Given the description of an element on the screen output the (x, y) to click on. 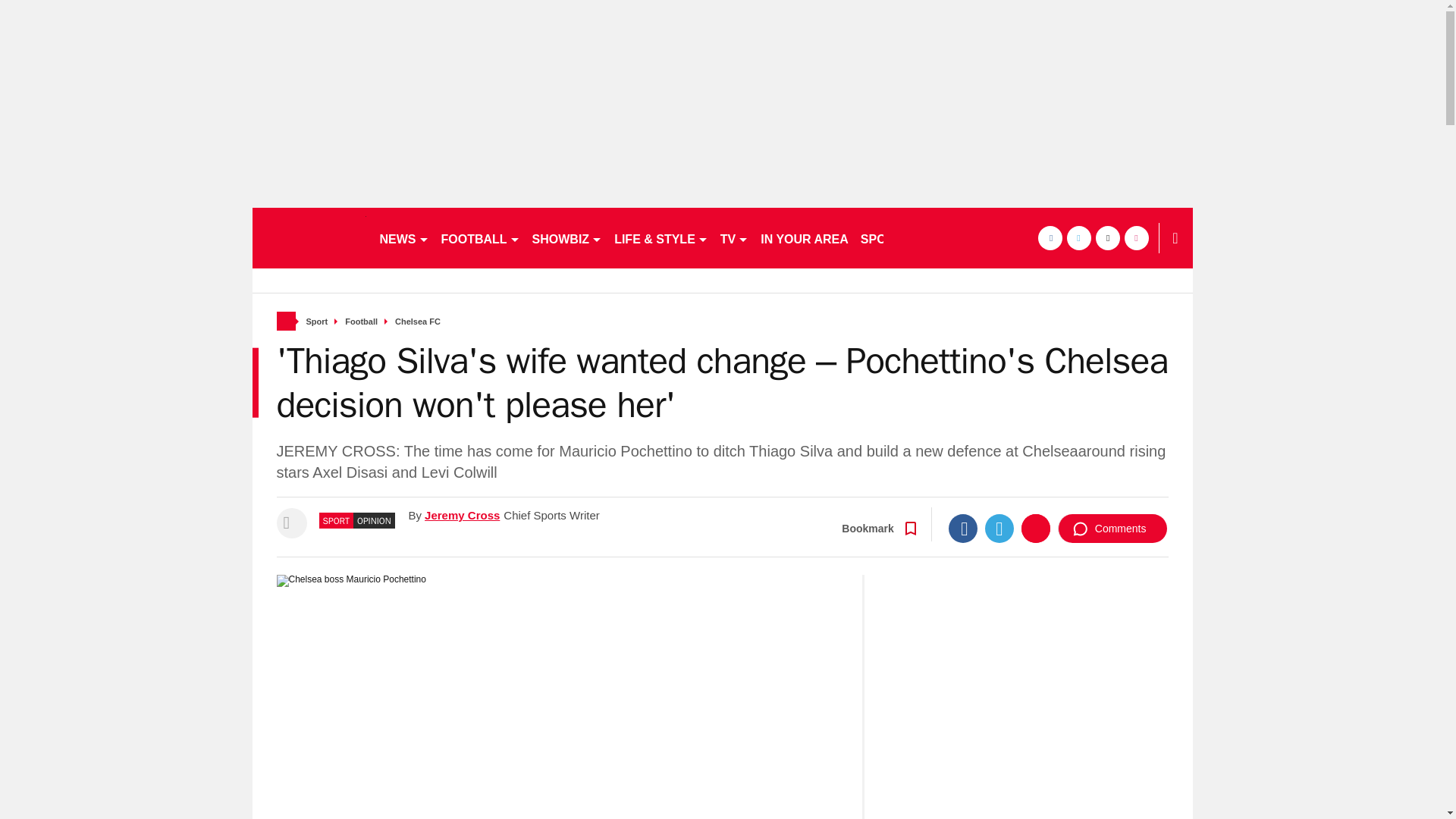
instagram (1136, 238)
Comments (1112, 528)
Twitter (999, 528)
Facebook (962, 528)
SHOWBIZ (566, 238)
facebook (1048, 238)
FOOTBALL (480, 238)
dailystar (308, 238)
twitter (1077, 238)
NEWS (402, 238)
